Given the description of an element on the screen output the (x, y) to click on. 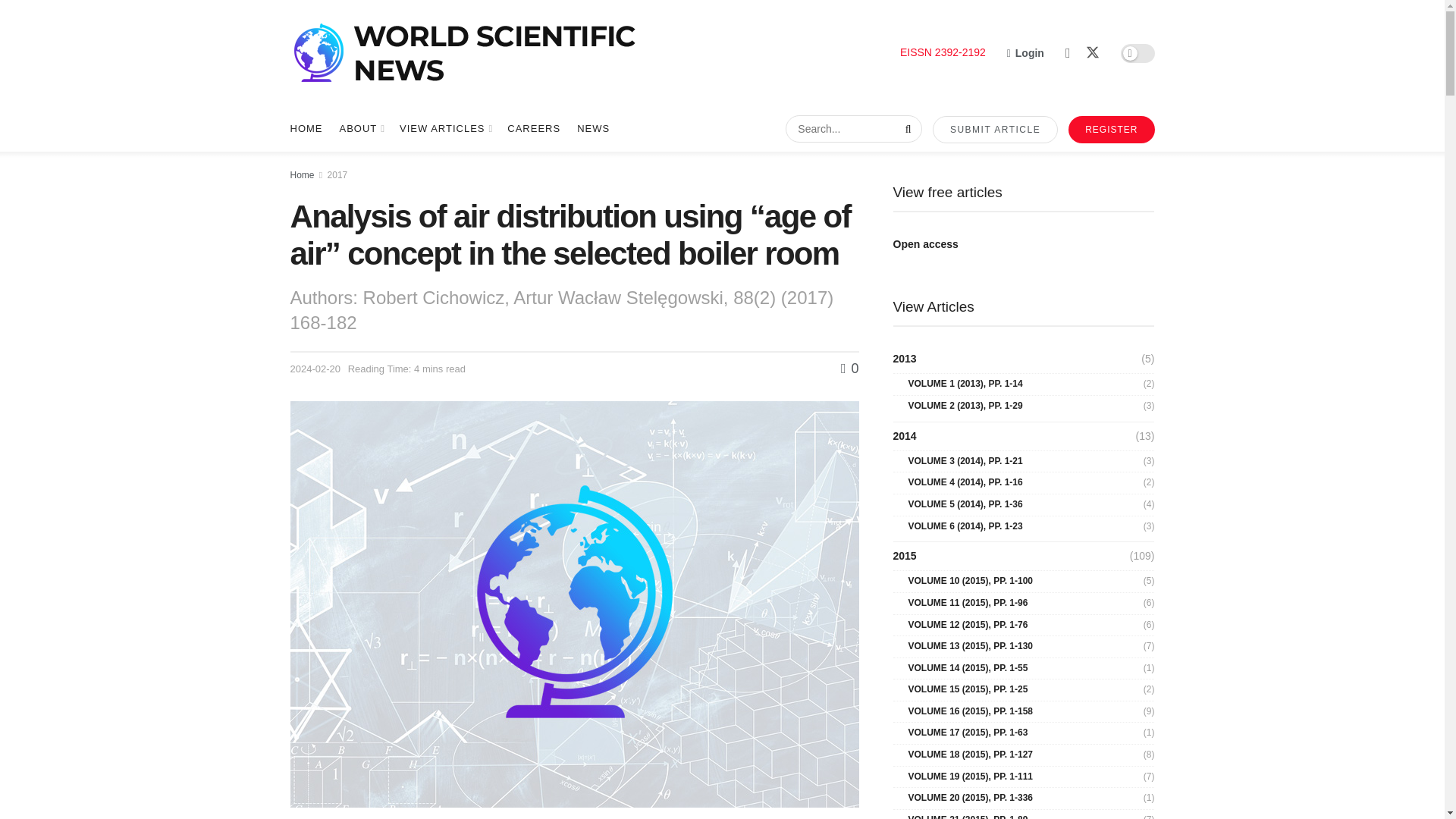
SUBMIT ARTICLE (995, 129)
VIEW ARTICLES (444, 128)
CAREERS (533, 128)
ABOUT (361, 128)
Login (1025, 53)
EISSN 2392-2192 (942, 51)
REGISTER (1111, 129)
